Given the description of an element on the screen output the (x, y) to click on. 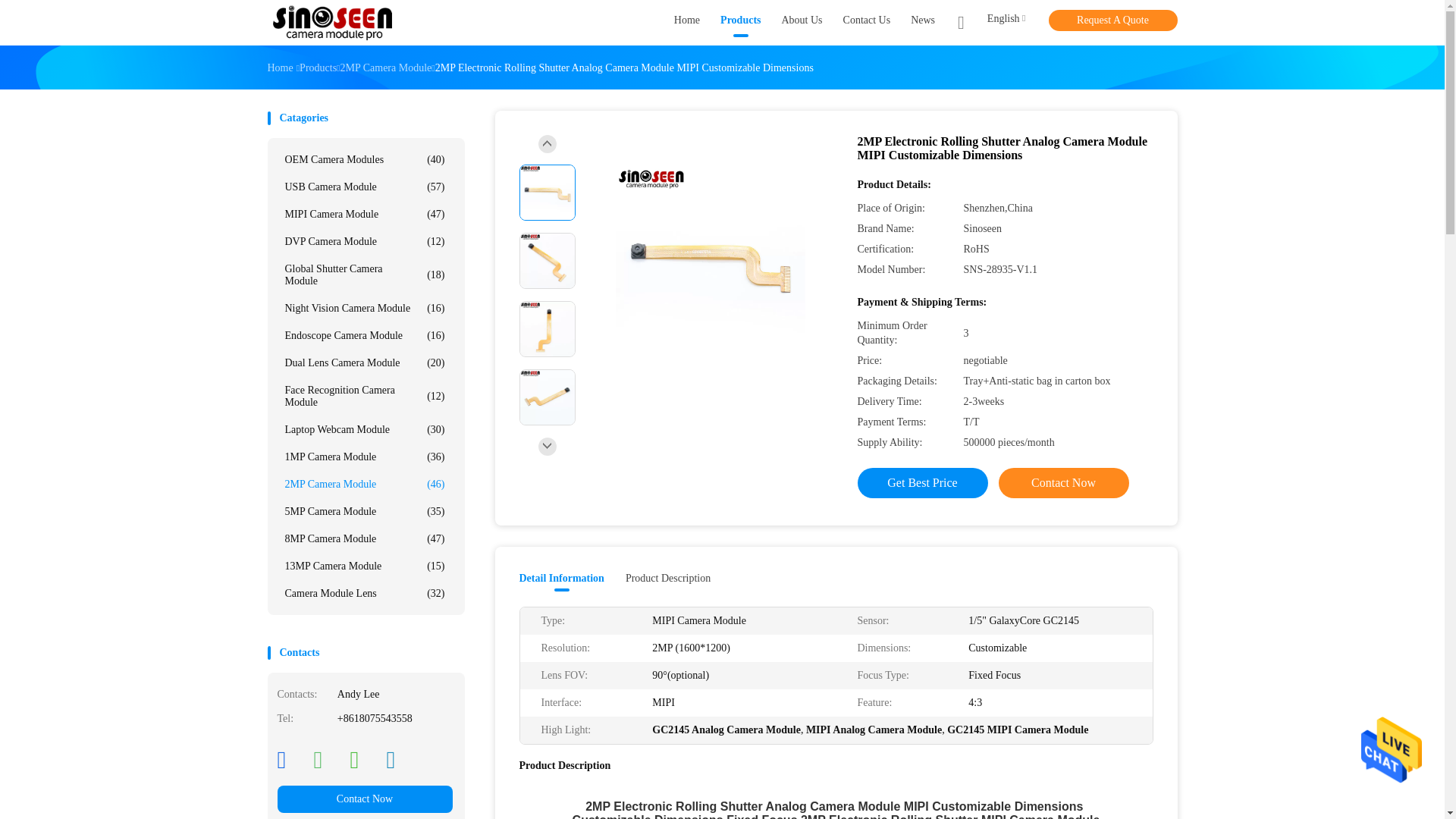
About Us (801, 22)
Home (687, 22)
Contact Us (867, 22)
News (922, 22)
Products (740, 22)
Shenzhen Sinoseen Technology Co., Ltd (333, 22)
Request A Quote (1112, 20)
